Given the description of an element on the screen output the (x, y) to click on. 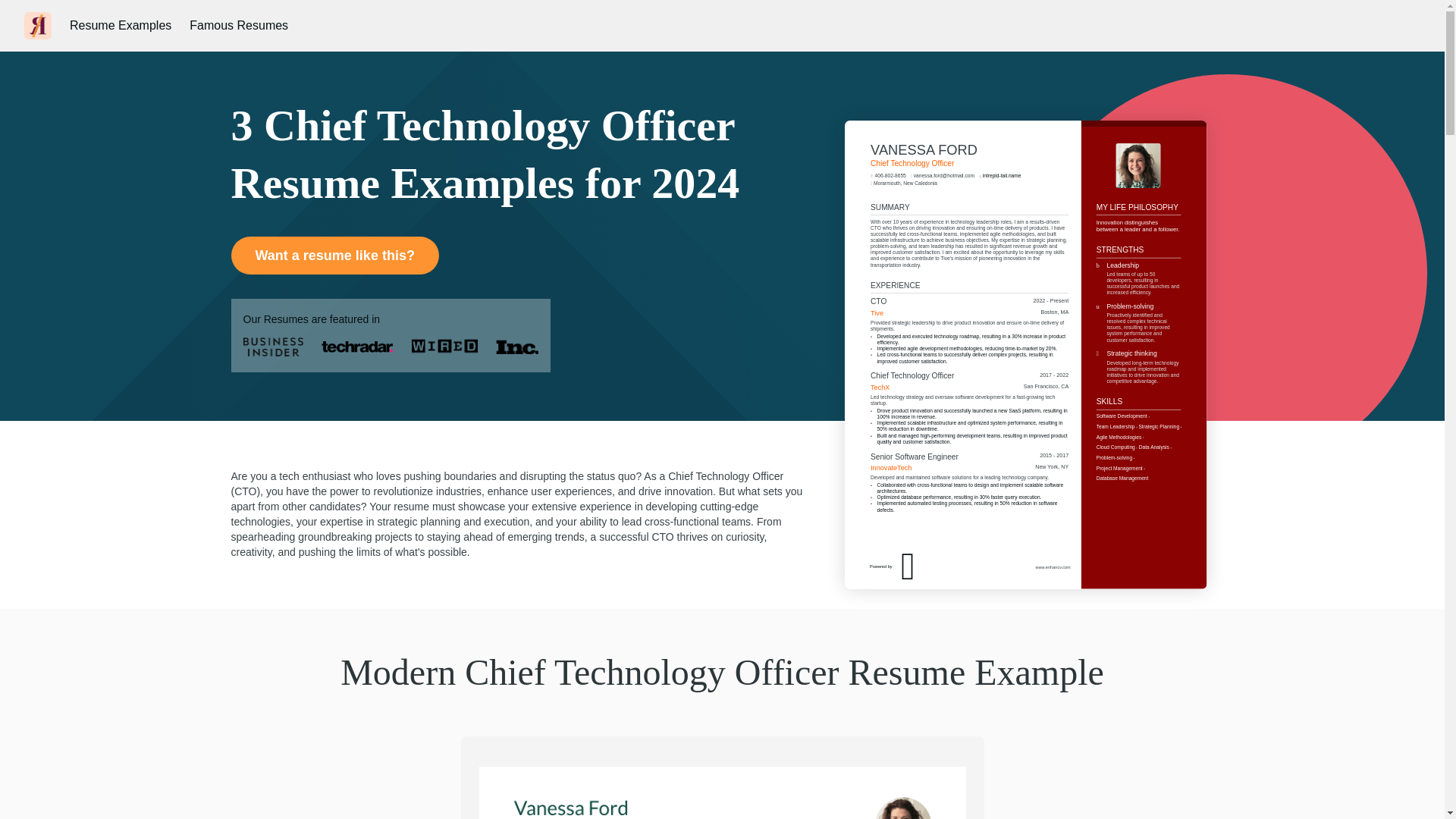
Powered by (942, 604)
Resume Examples (120, 26)
intrepid-tail.name (1024, 227)
Want a resume like this? (334, 255)
Famous Resumes (238, 26)
